Given the description of an element on the screen output the (x, y) to click on. 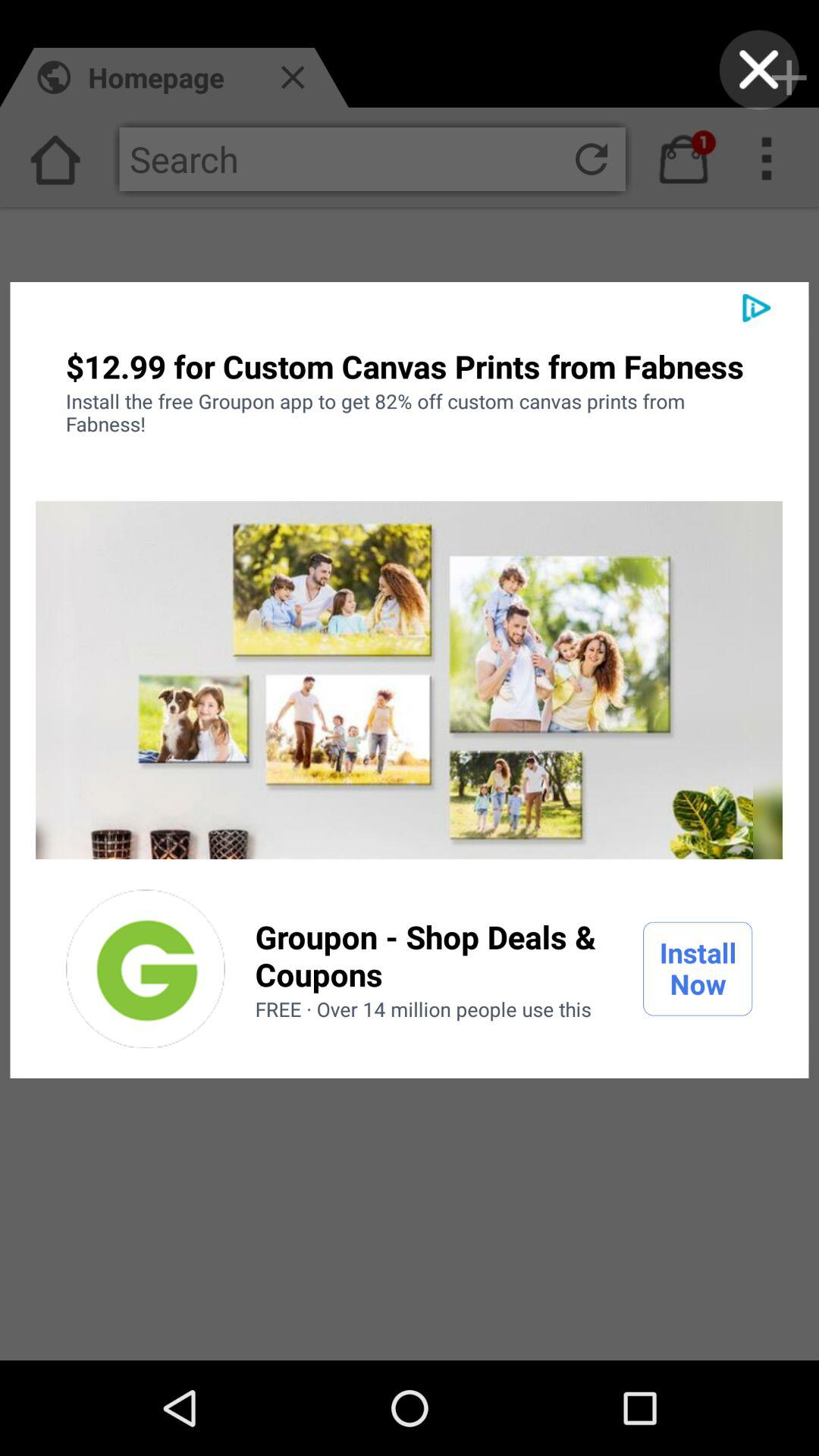
turn on the item to the left of the groupon shop deals icon (145, 968)
